Given the description of an element on the screen output the (x, y) to click on. 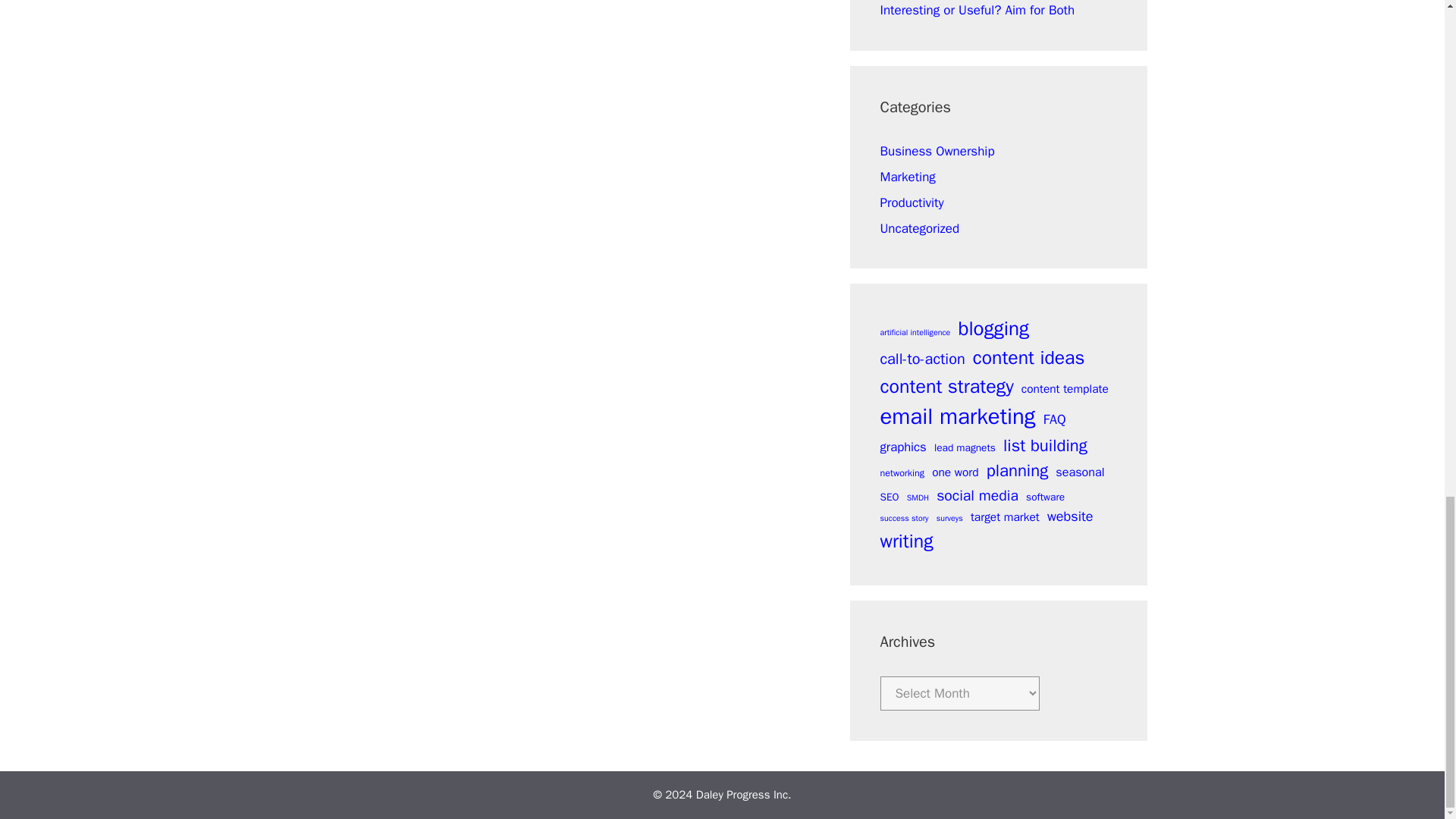
Marketing (906, 176)
artificial intelligence (914, 332)
Daley Progress Inc. (743, 794)
Uncategorized (919, 228)
Scroll back to top (1406, 258)
blogging (993, 328)
Interesting or Useful? Aim for Both (976, 10)
Business Ownership (936, 150)
Productivity (911, 202)
call-to-action (921, 359)
